Given the description of an element on the screen output the (x, y) to click on. 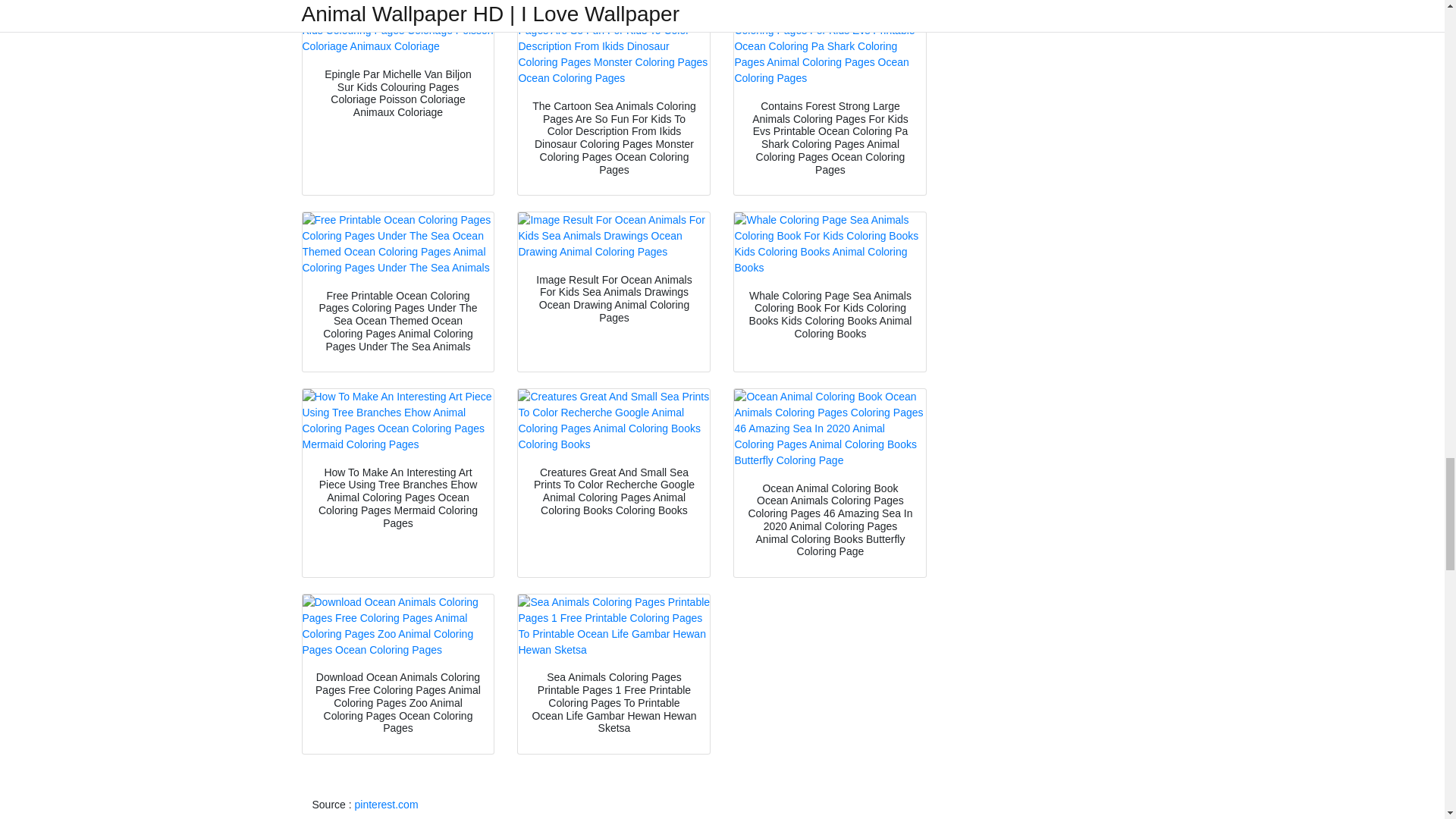
pinterest.com (387, 804)
